Given the description of an element on the screen output the (x, y) to click on. 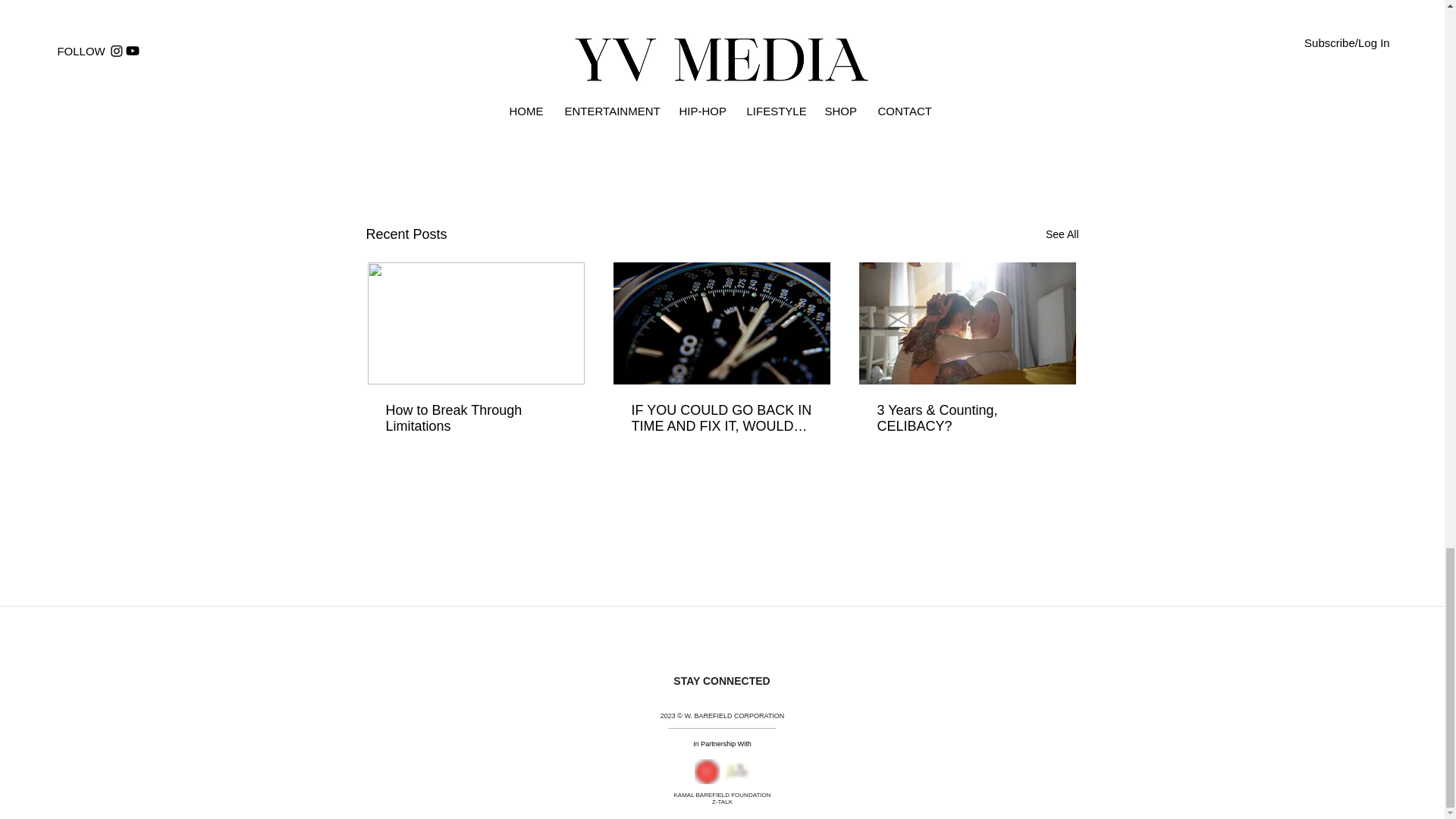
See All (1061, 234)
How to Break Through Limitations (475, 418)
IF YOU COULD GO BACK IN TIME AND FIX IT, WOULD YOU? (720, 418)
